Given the description of an element on the screen output the (x, y) to click on. 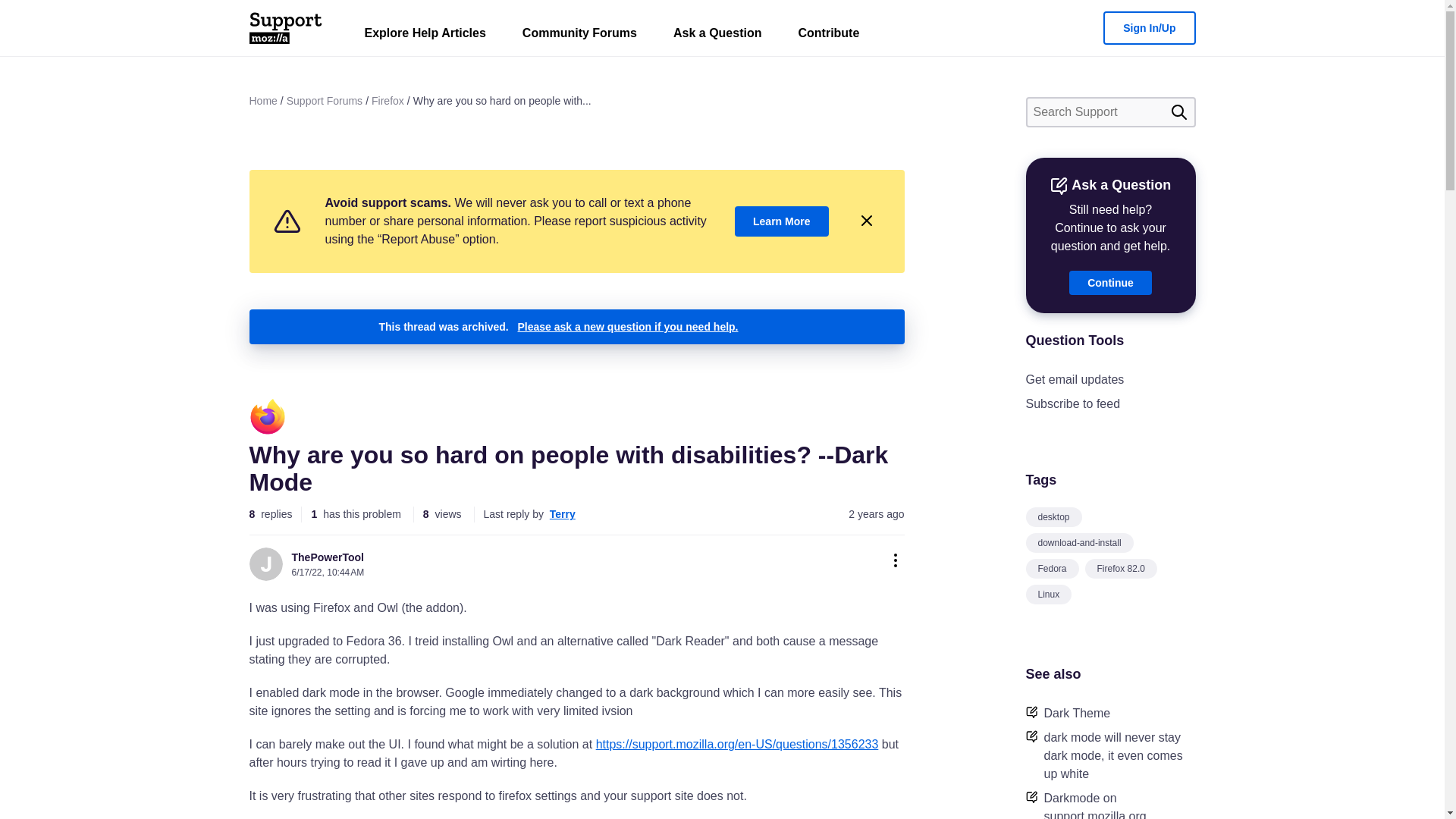
Ask a Question (716, 37)
Explore Help Articles (424, 37)
Community Forums (579, 37)
Search (1178, 111)
